Given the description of an element on the screen output the (x, y) to click on. 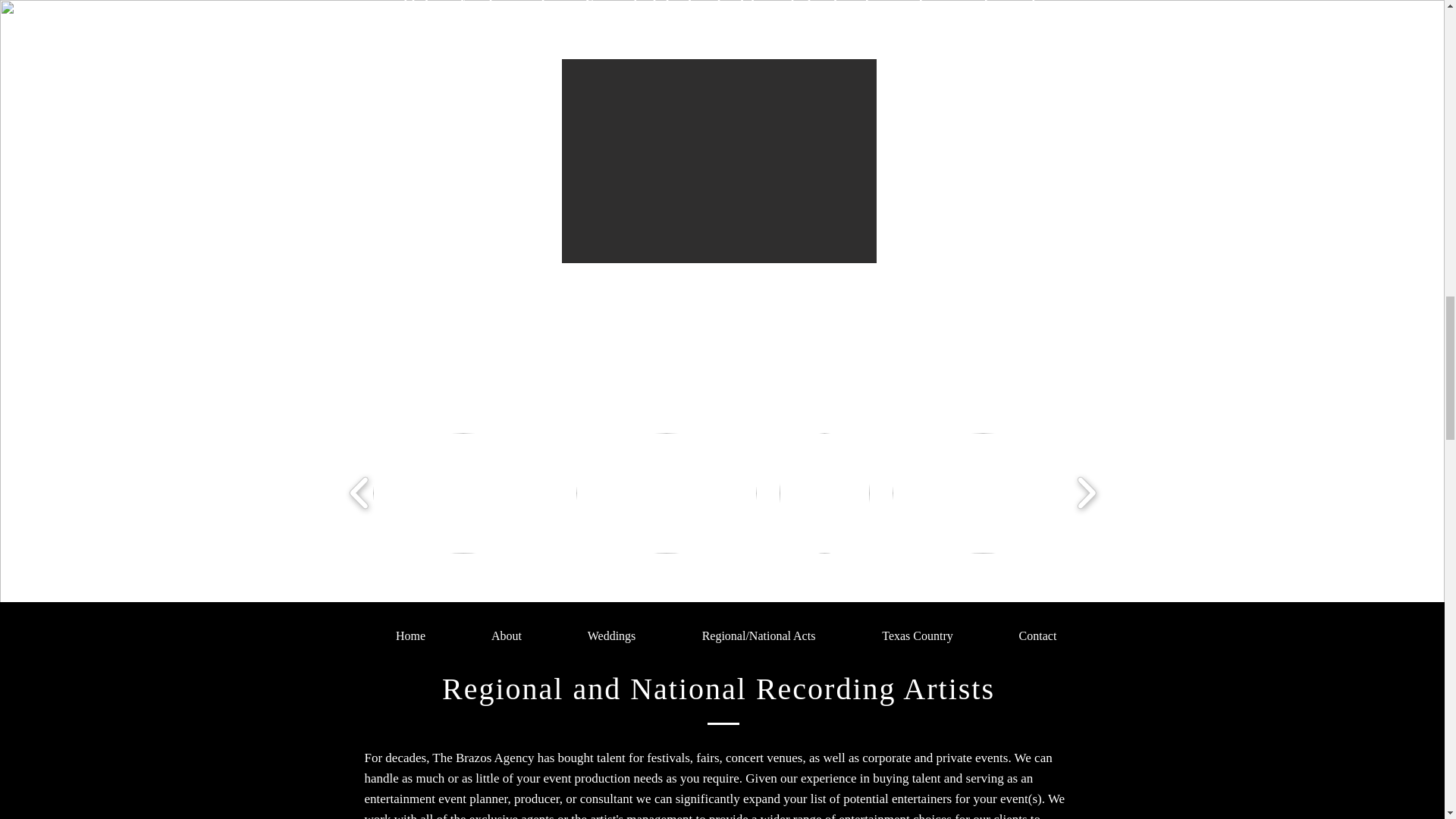
Home (410, 636)
Contact (1037, 636)
About (506, 636)
Weddings (611, 636)
Texas Country (917, 636)
